Given the description of an element on the screen output the (x, y) to click on. 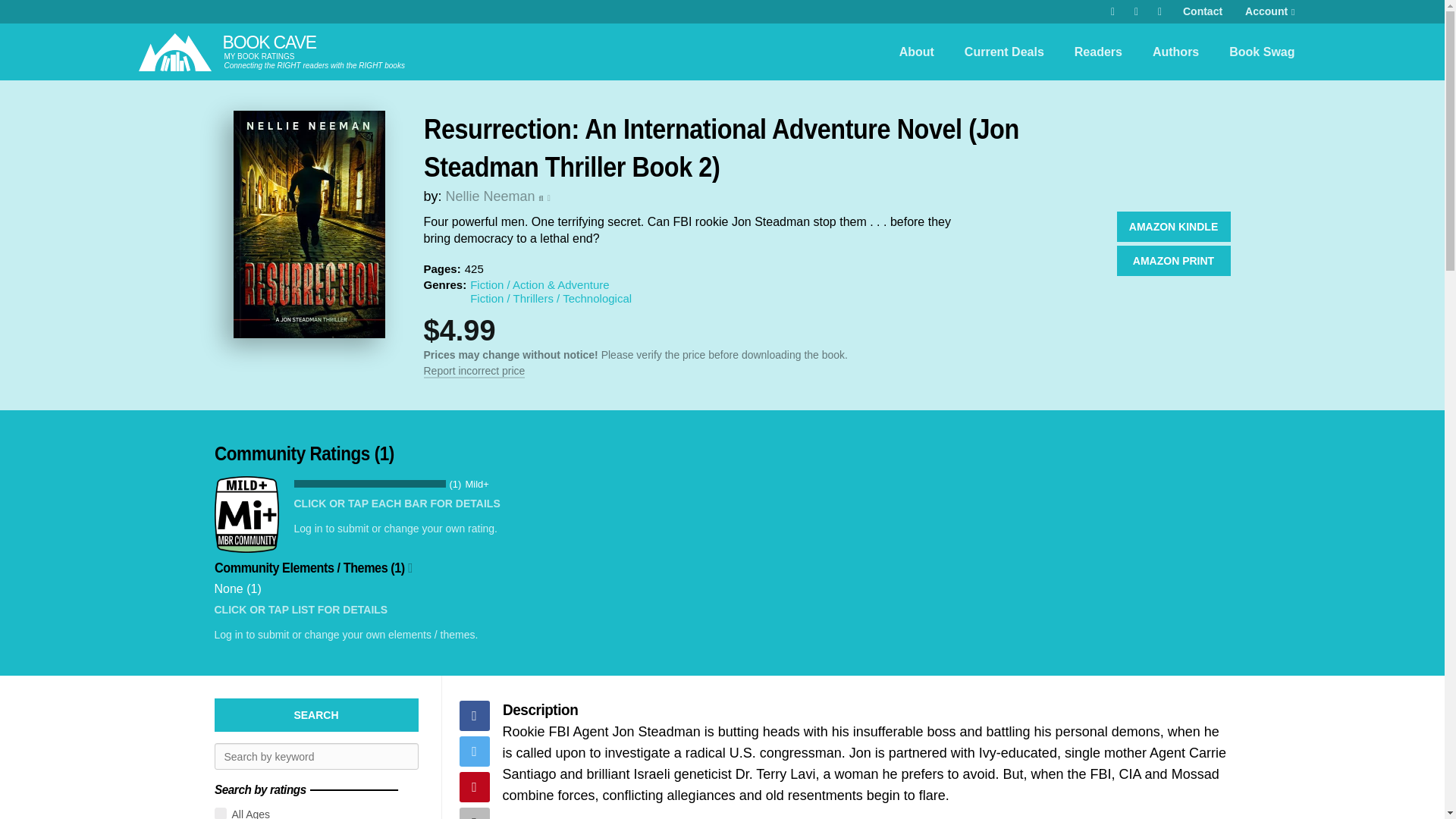
Share through email (474, 813)
Pin It on Pinterest (474, 787)
MY BOOK RATINGS (259, 56)
Share on Facebook (474, 716)
Current Deals (1004, 51)
Account (1269, 11)
Contact (1202, 11)
Tweet This (474, 751)
Readers (1098, 51)
BOOK CAVE (268, 42)
About (916, 51)
